Given the description of an element on the screen output the (x, y) to click on. 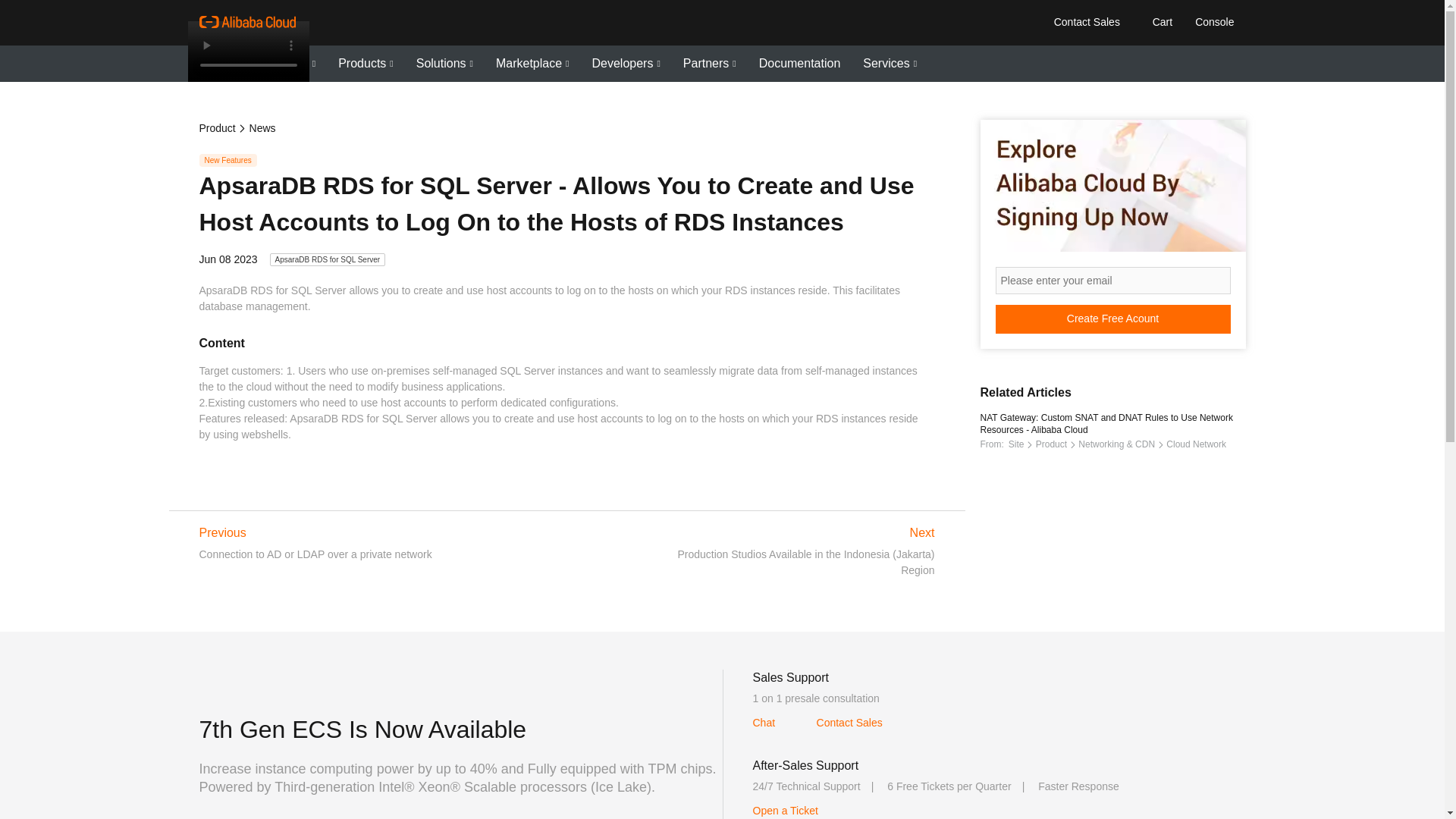
Contact Sales (1086, 22)
  Cart (1159, 22)
Marketplace (532, 63)
Alibaba Cloud (246, 22)
Console (1213, 22)
Developers (625, 63)
Pricing (292, 63)
Why Us (222, 63)
Partners (709, 63)
Services (890, 63)
